Given the description of an element on the screen output the (x, y) to click on. 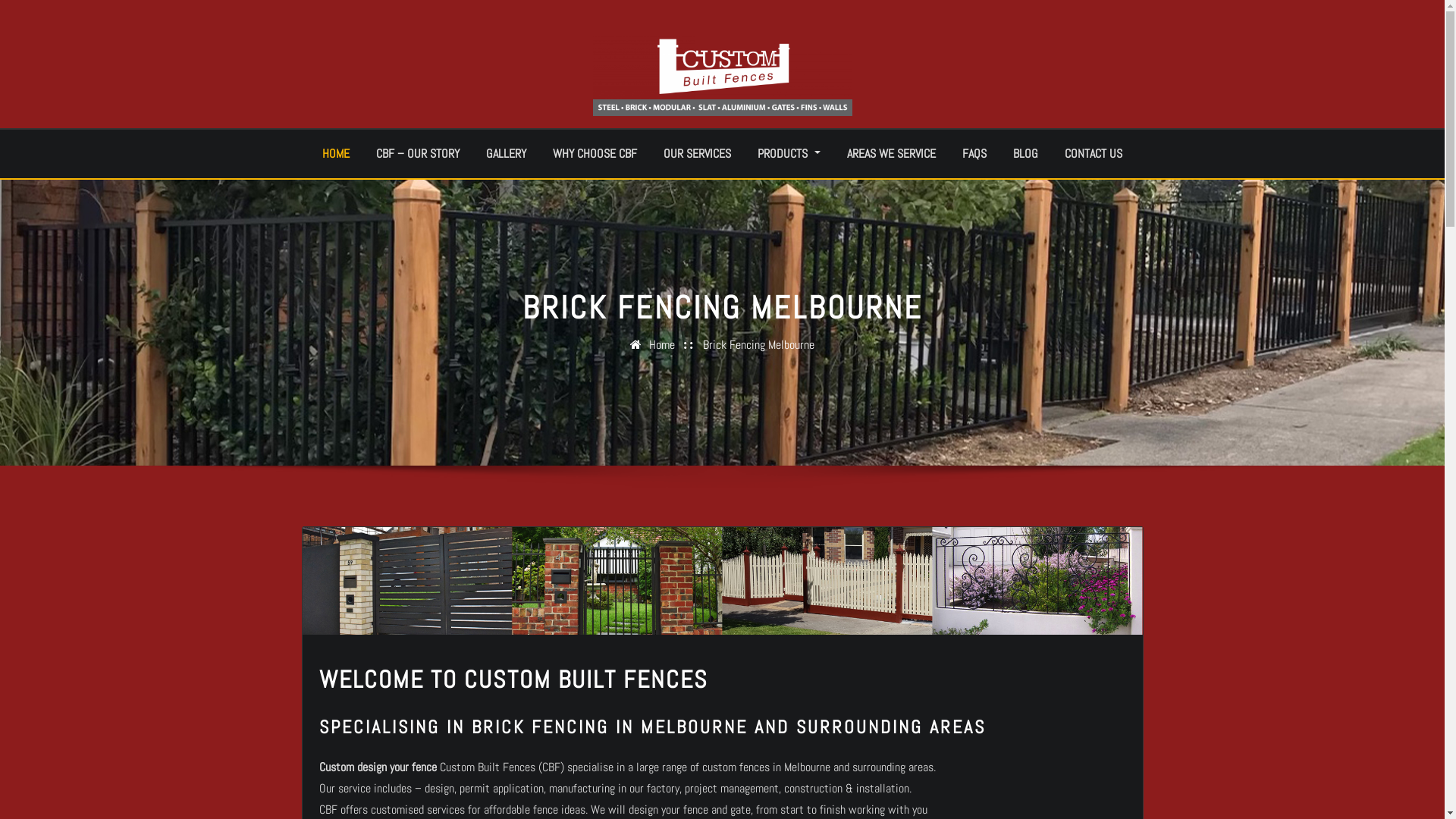
GALLERY Element type: text (506, 153)
PRODUCTS Element type: text (788, 153)
WHY CHOOSE CBF Element type: text (594, 153)
AREAS WE SERVICE Element type: text (891, 153)
CONTACT US Element type: text (1093, 153)
OUR SERVICES Element type: text (697, 153)
FAQS Element type: text (974, 153)
BLOG Element type: text (1025, 153)
HOME Element type: text (335, 153)
Home Element type: text (661, 344)
